Given the description of an element on the screen output the (x, y) to click on. 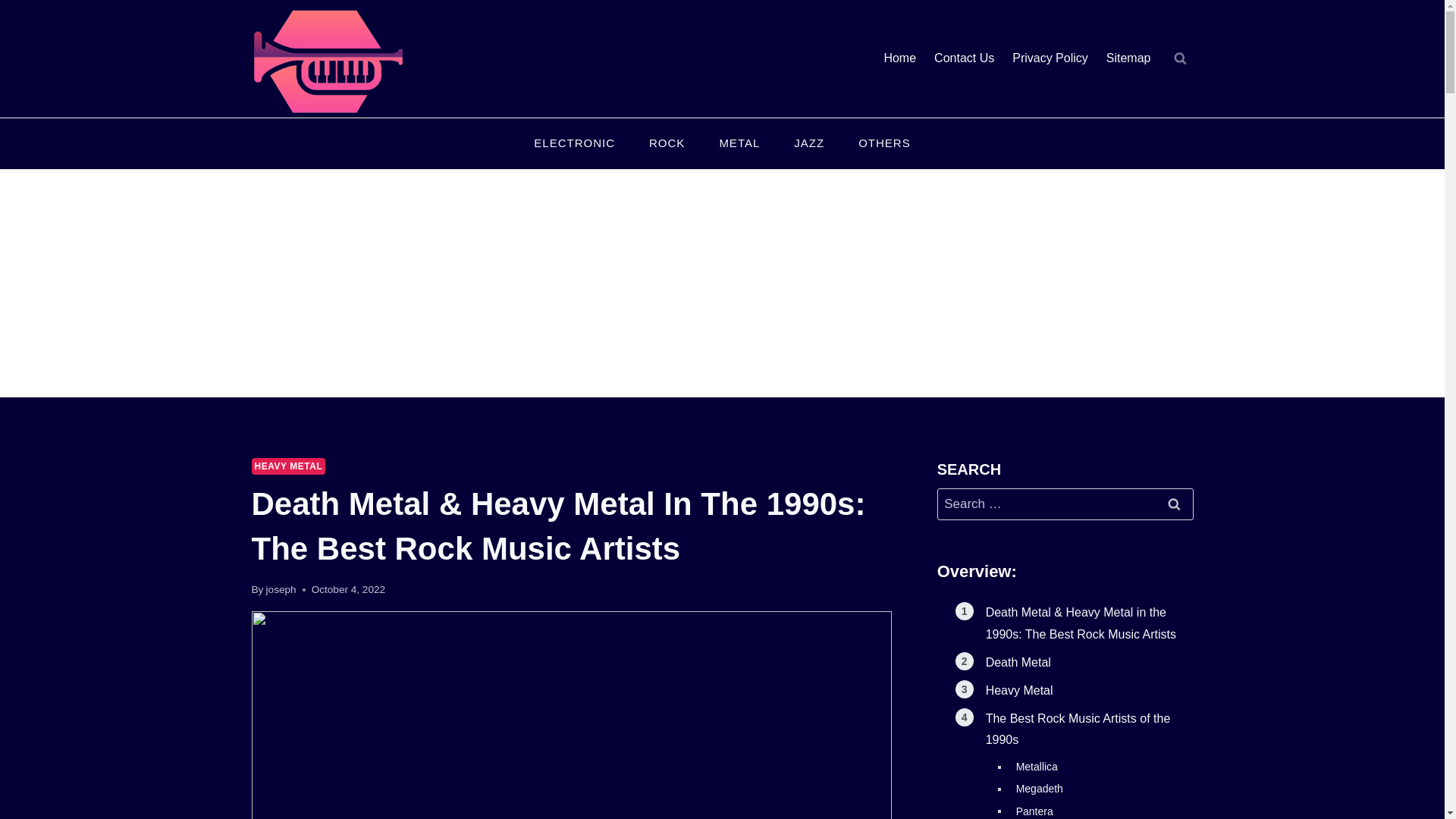
HEAVY METAL (288, 466)
joseph (281, 589)
Contact Us (963, 58)
METAL (739, 143)
Search (1174, 504)
ROCK (666, 143)
Home (899, 58)
Search (1174, 504)
ELECTRONIC (573, 143)
Privacy Policy (1050, 58)
OTHERS (884, 143)
JAZZ (809, 143)
Sitemap (1128, 58)
